Given the description of an element on the screen output the (x, y) to click on. 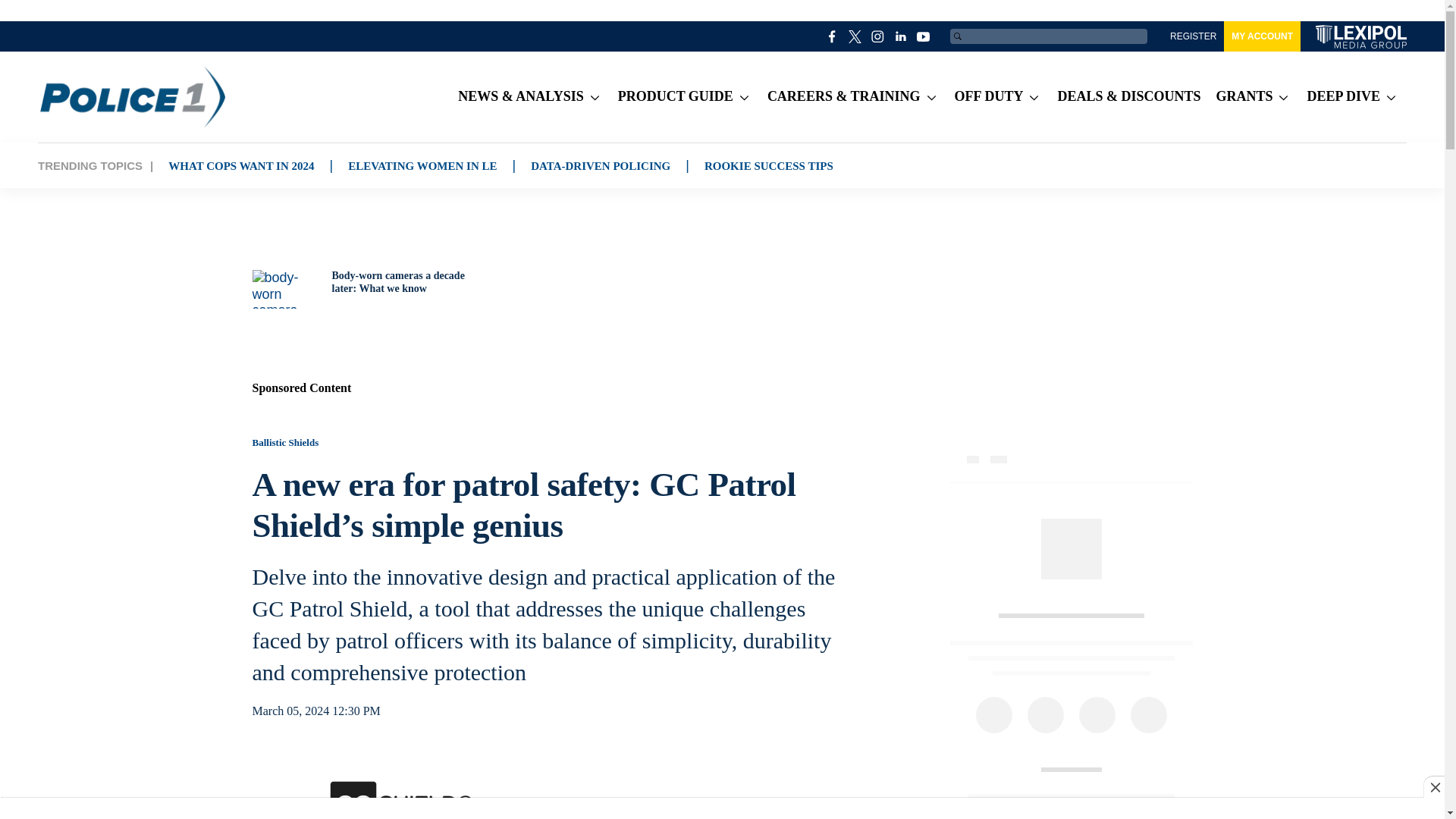
linkedin (900, 36)
MY ACCOUNT (1262, 36)
facebook (832, 36)
REGISTER (1192, 36)
youtube (923, 36)
instagram (877, 36)
twitter (855, 36)
